Given the description of an element on the screen output the (x, y) to click on. 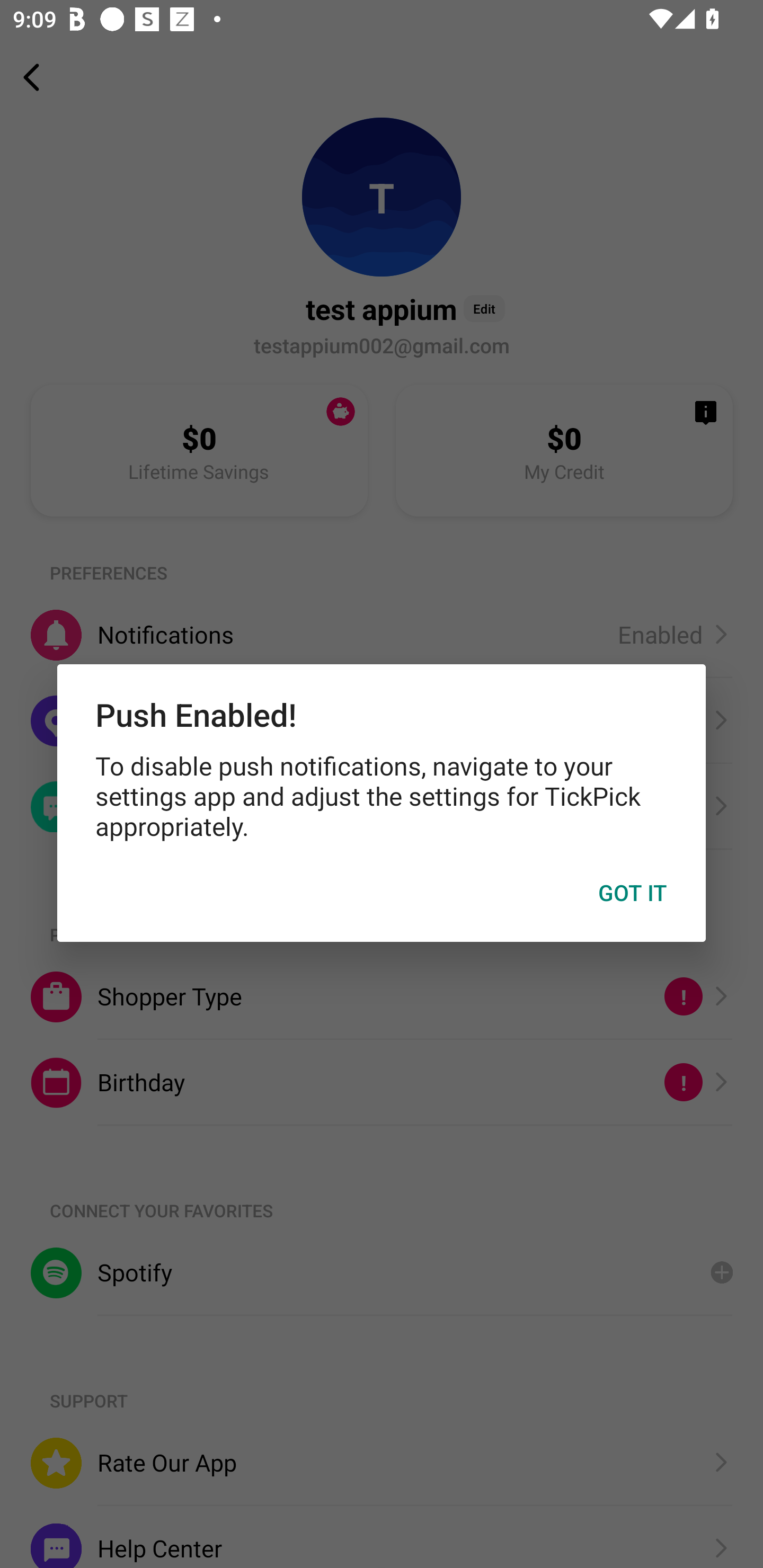
GOT IT (632, 892)
